Given the description of an element on the screen output the (x, y) to click on. 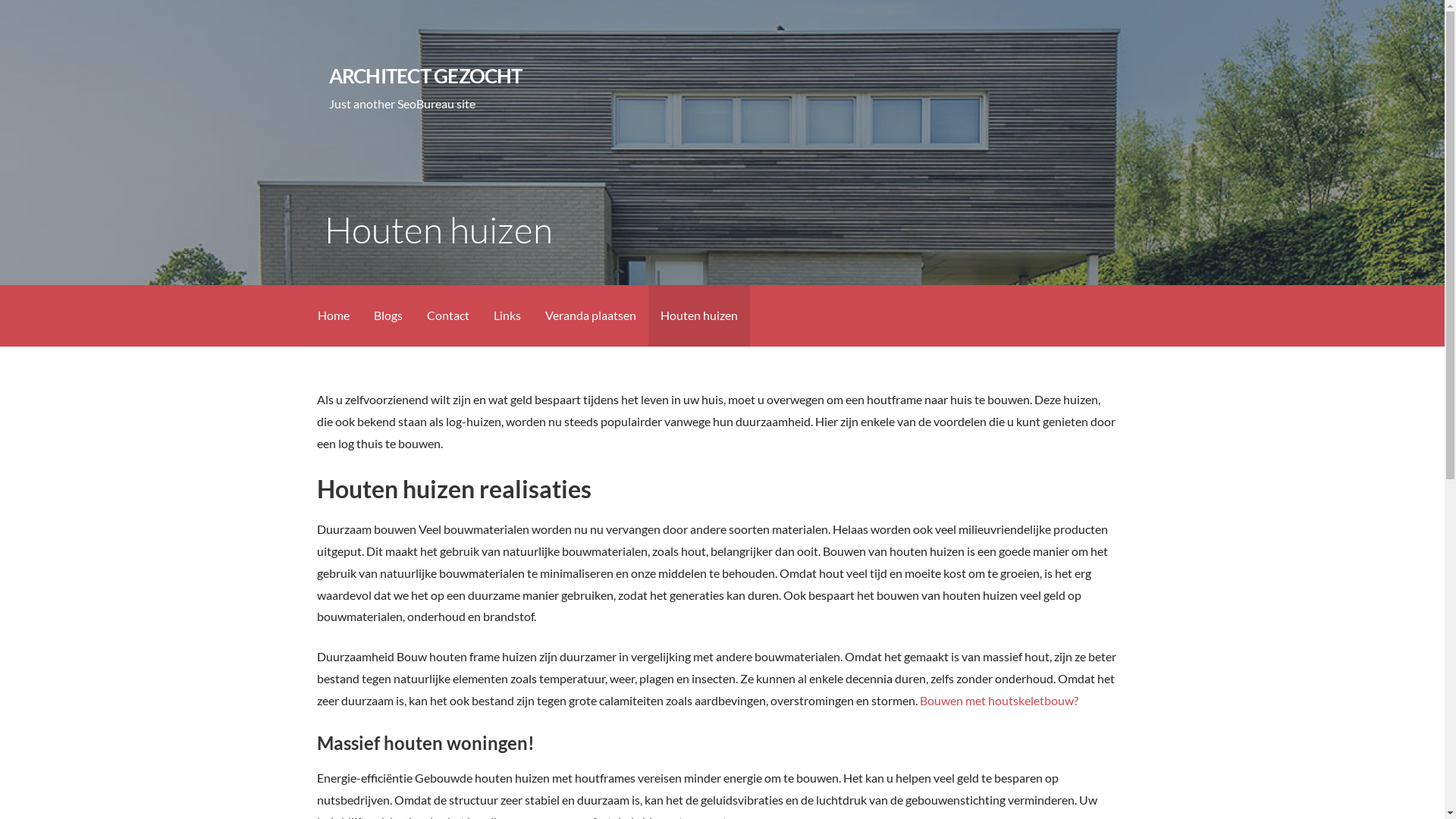
Links Element type: text (506, 315)
Bouwen met houtskeletbouw? Element type: text (998, 700)
Veranda plaatsen Element type: text (589, 315)
Houten huizen Element type: text (698, 315)
ARCHITECT GEZOCHT Element type: text (425, 75)
Contact Element type: text (447, 315)
Blogs Element type: text (387, 315)
Home Element type: text (332, 315)
